Given the description of an element on the screen output the (x, y) to click on. 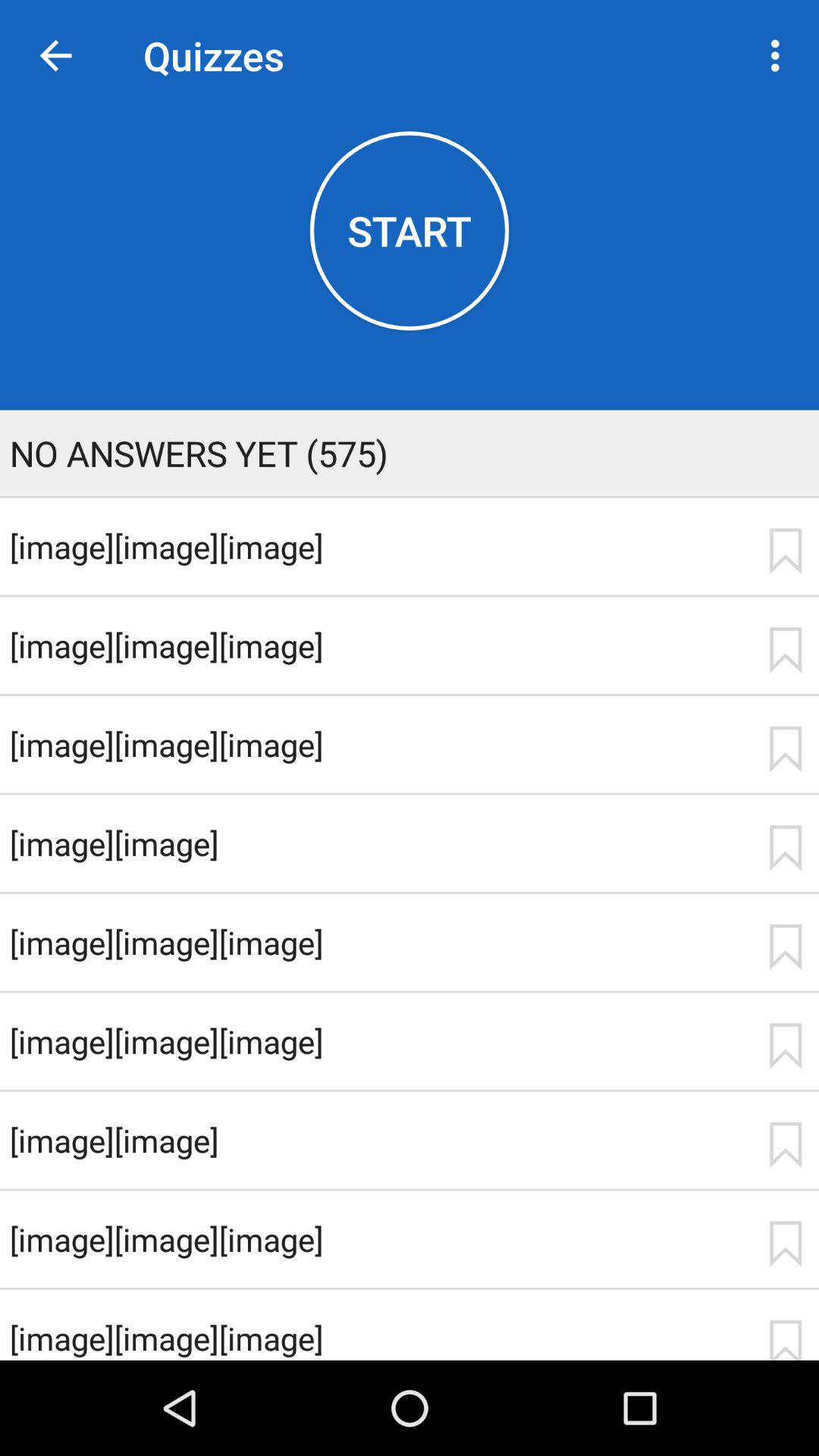
bookmark (784, 1243)
